Given the description of an element on the screen output the (x, y) to click on. 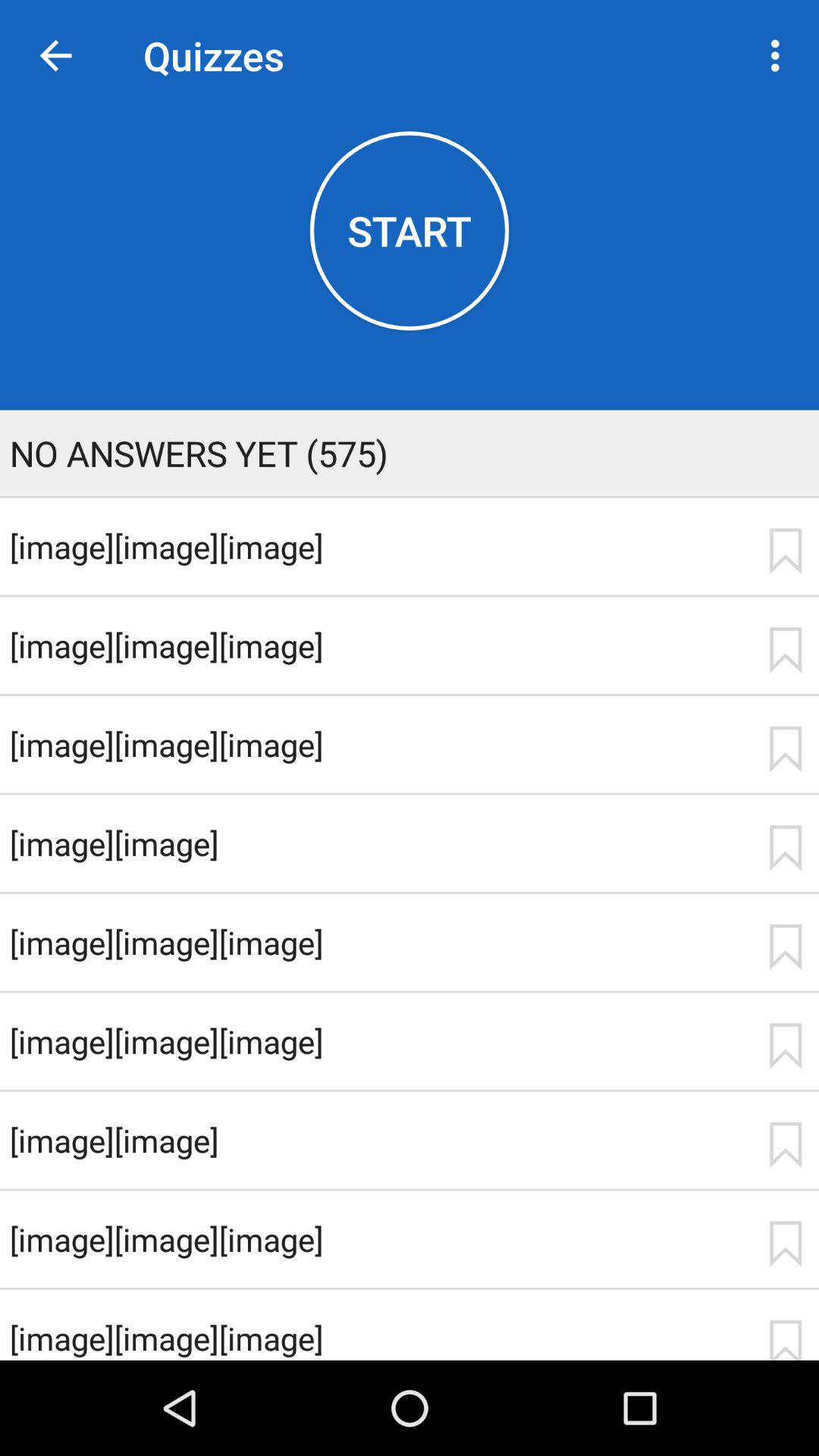
bookmark (784, 1243)
